Given the description of an element on the screen output the (x, y) to click on. 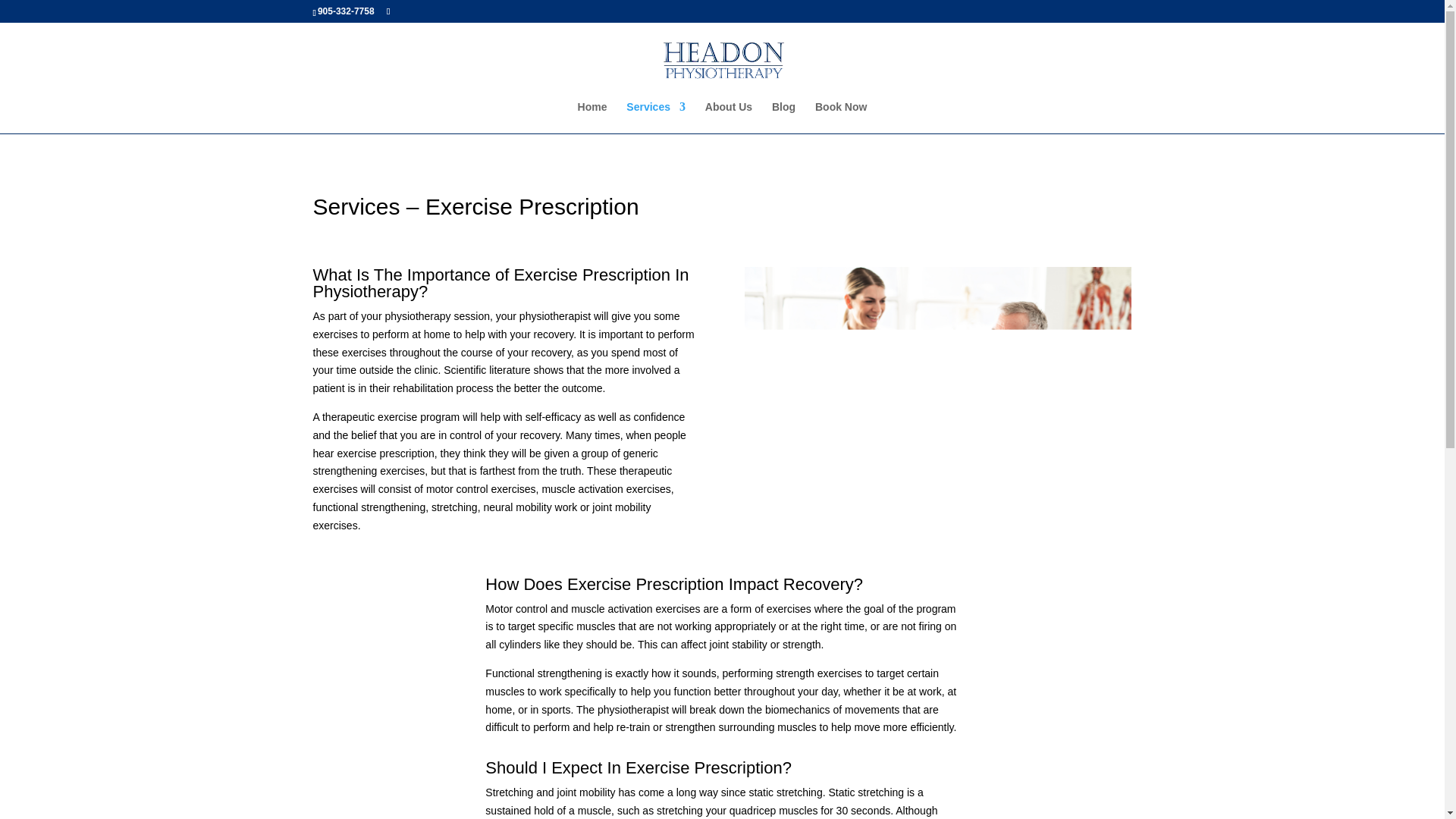
Services (655, 117)
About Us (728, 117)
Home (592, 117)
Book Now (840, 117)
